Given the description of an element on the screen output the (x, y) to click on. 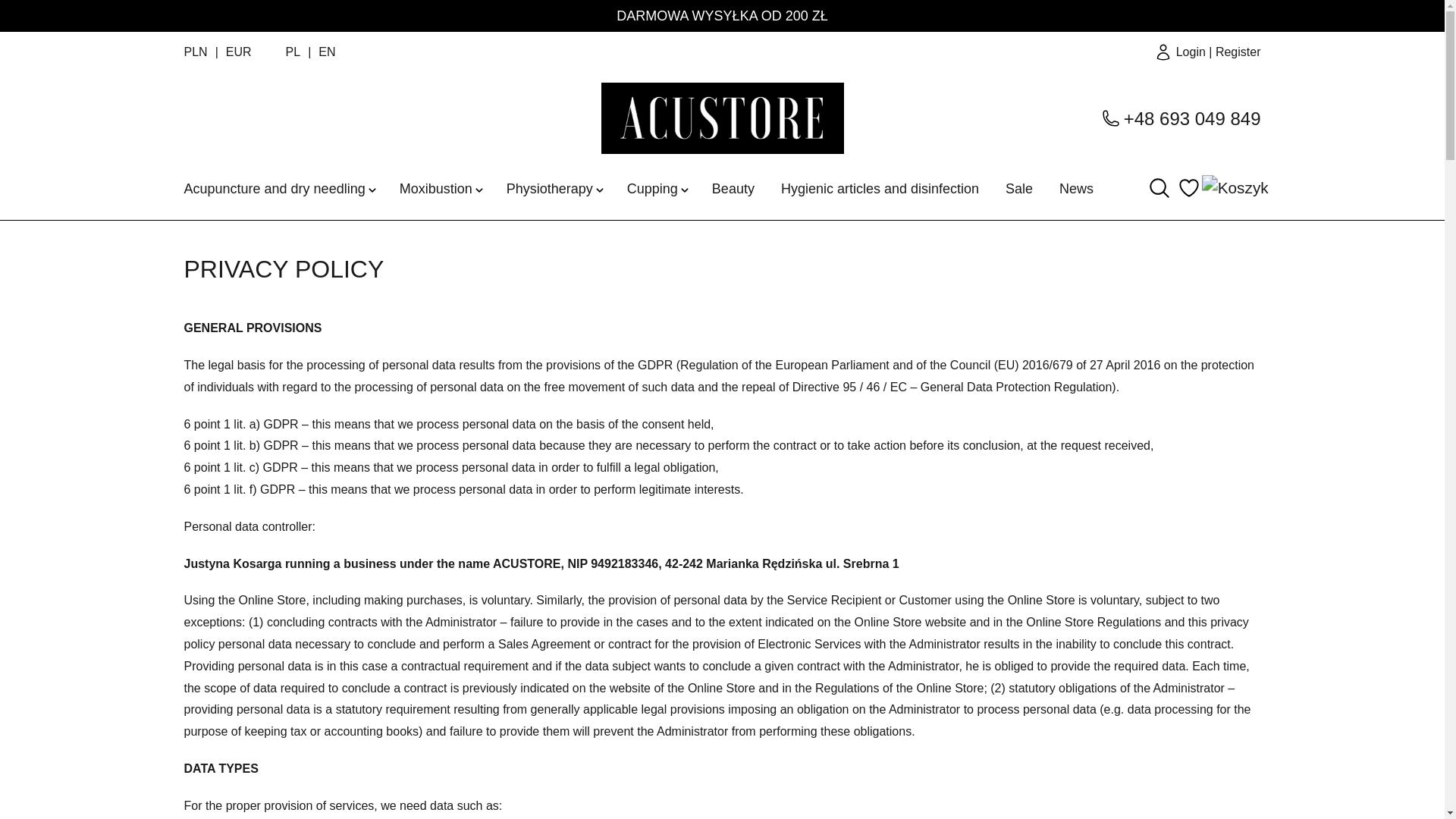
Acupuncture and dry needling (274, 188)
Moxibustion (434, 188)
PL (293, 51)
Hygienic articles and disinfection (879, 188)
EN (326, 51)
Sale (1019, 188)
EUR (238, 52)
PLN (204, 52)
Cupping (652, 188)
Physiotherapy (549, 188)
News (1076, 188)
Beauty (732, 188)
